Given the description of an element on the screen output the (x, y) to click on. 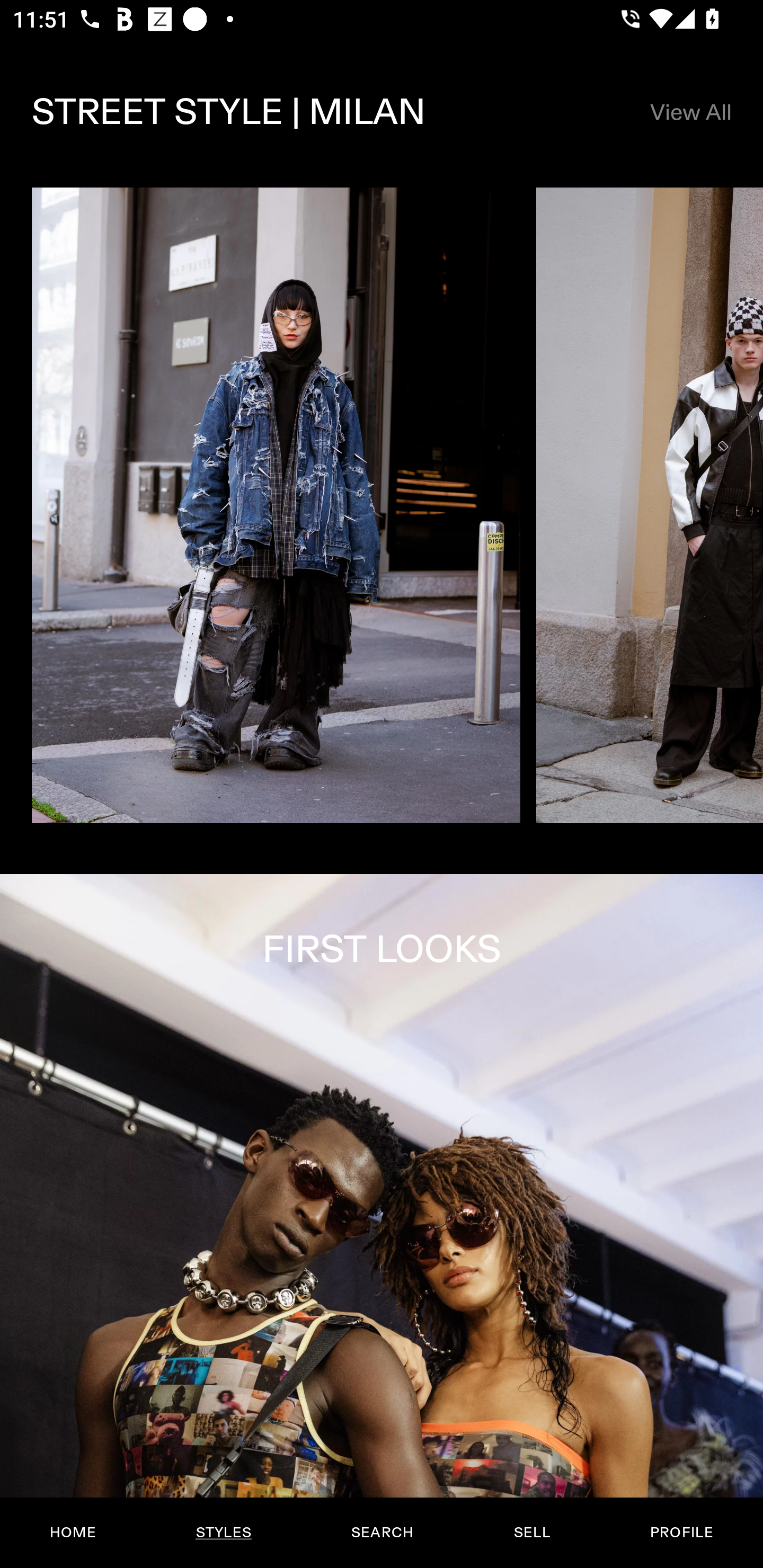
View All (690, 112)
FIRST LOOKS DIESEL FALL '24 (381, 1220)
HOME (72, 1532)
STYLES (222, 1532)
SEARCH (381, 1532)
SELL (531, 1532)
PROFILE (681, 1532)
